Given the description of an element on the screen output the (x, y) to click on. 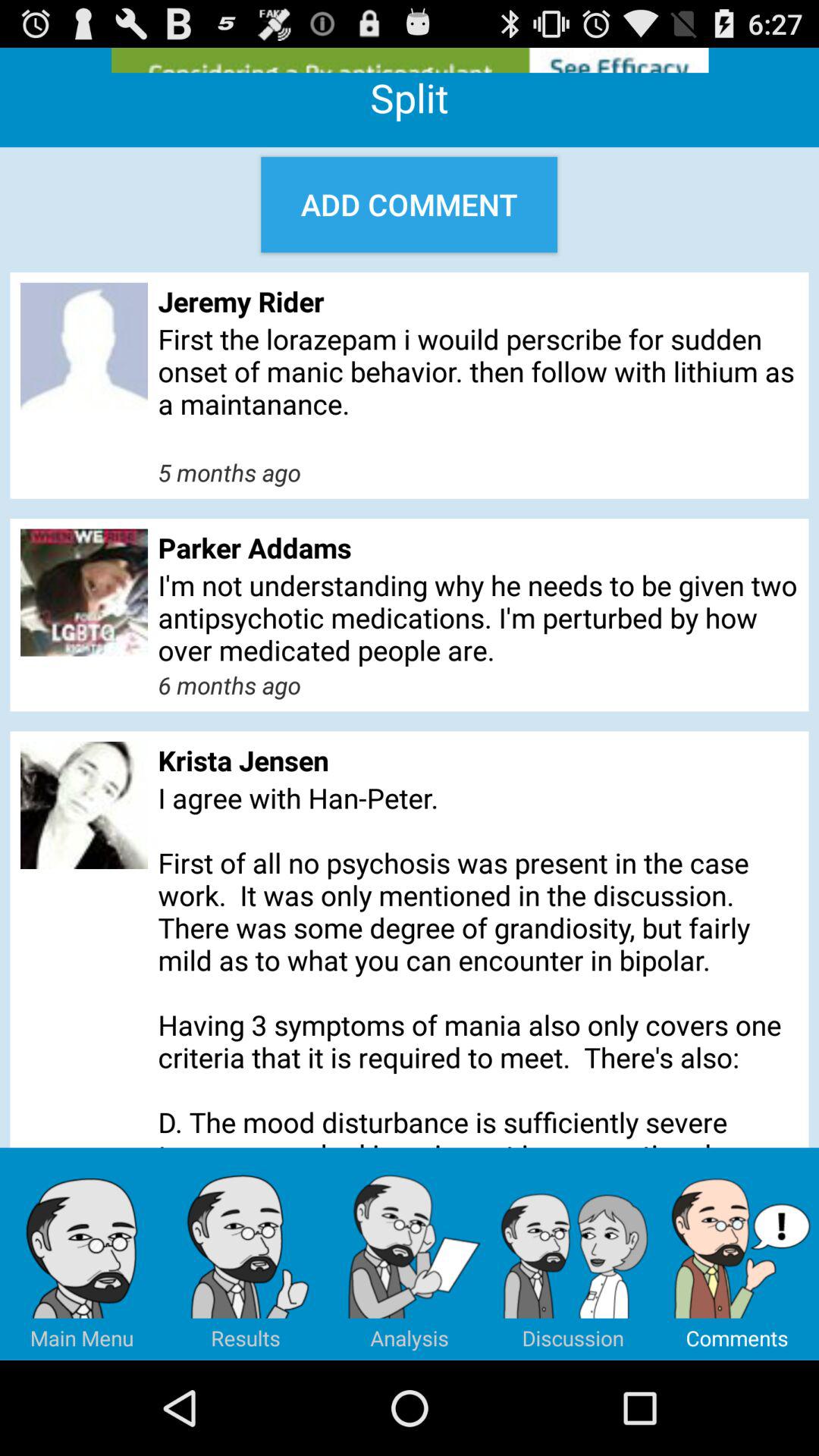
turn on the item below the add comment item (478, 301)
